Given the description of an element on the screen output the (x, y) to click on. 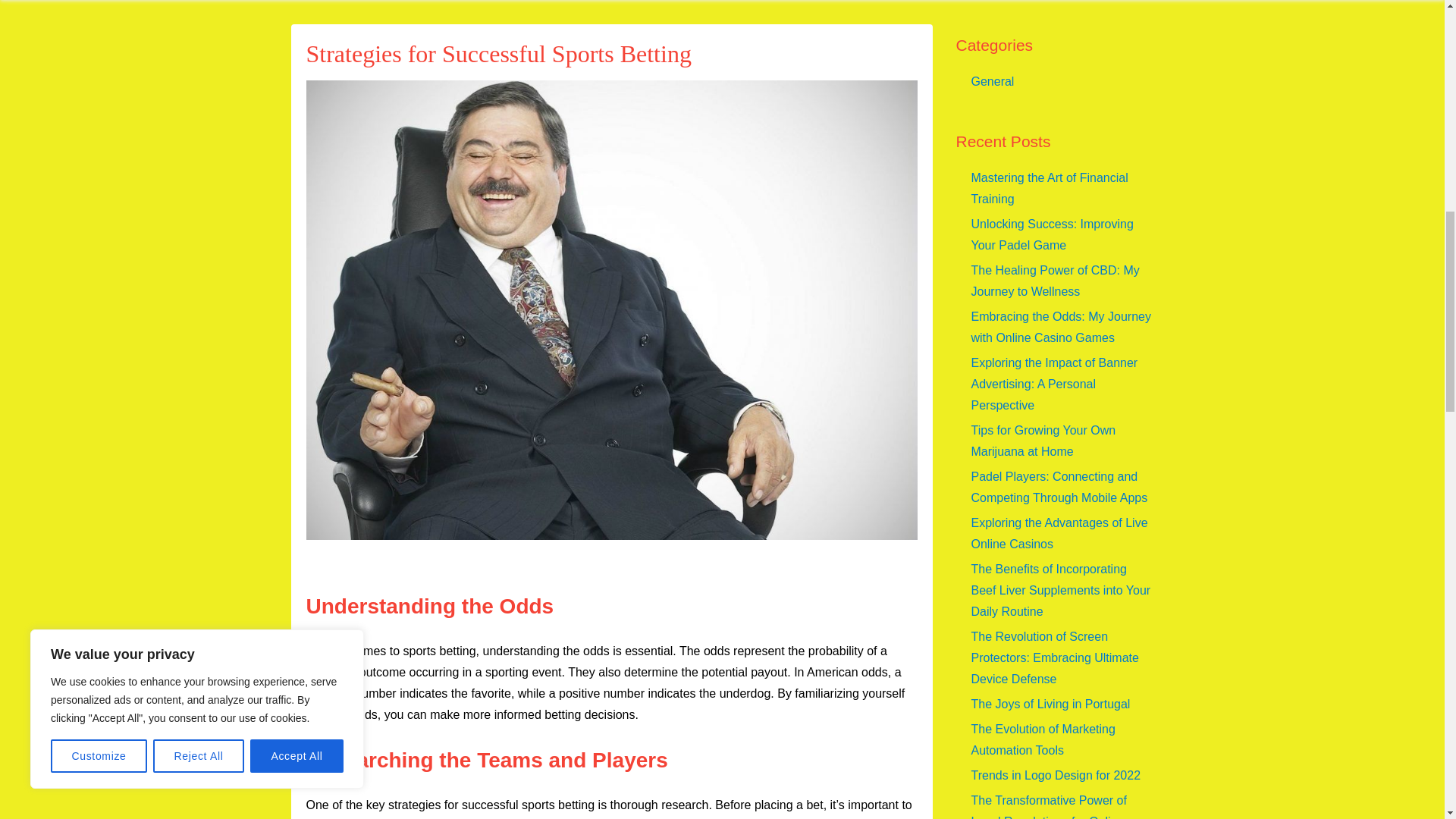
Tips for Growing Your Own Marijuana at Home (1043, 440)
Unlocking Success: Improving Your Padel Game (1051, 234)
Embracing the Odds: My Journey with Online Casino Games (1060, 326)
General (992, 81)
The Healing Power of CBD: My Journey to Wellness (1054, 280)
Mastering the Art of Financial Training (1048, 188)
